Given the description of an element on the screen output the (x, y) to click on. 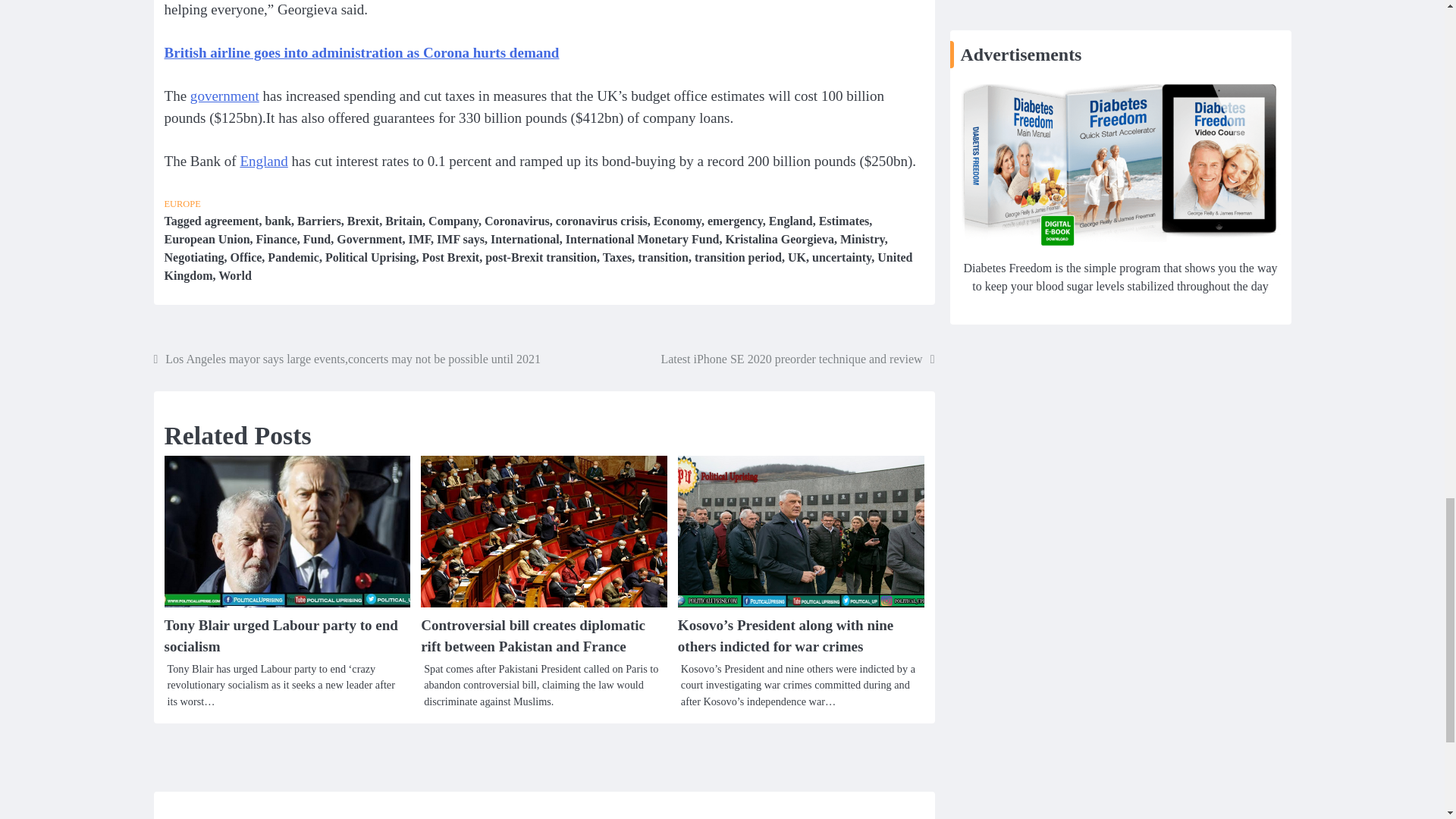
Coronavirus (517, 220)
Company (453, 220)
bank (277, 220)
coronavirus crisis (601, 220)
Britain (403, 220)
emergency (734, 220)
England (263, 160)
Fund (316, 238)
EUROPE (181, 204)
Finance (276, 238)
